Given the description of an element on the screen output the (x, y) to click on. 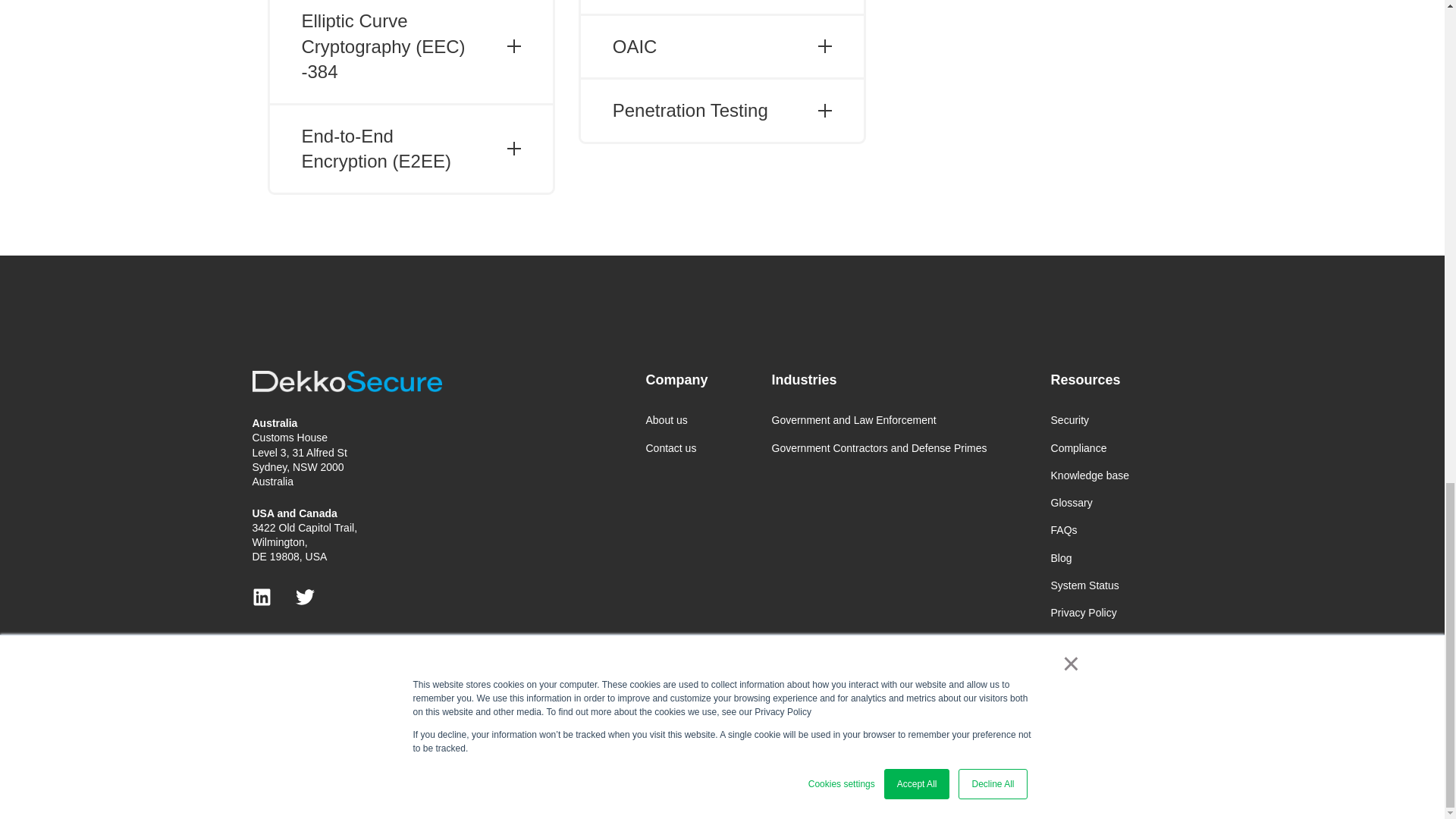
Government and Law Enforcement (879, 420)
Contact us (676, 447)
About us (676, 420)
